Given the description of an element on the screen output the (x, y) to click on. 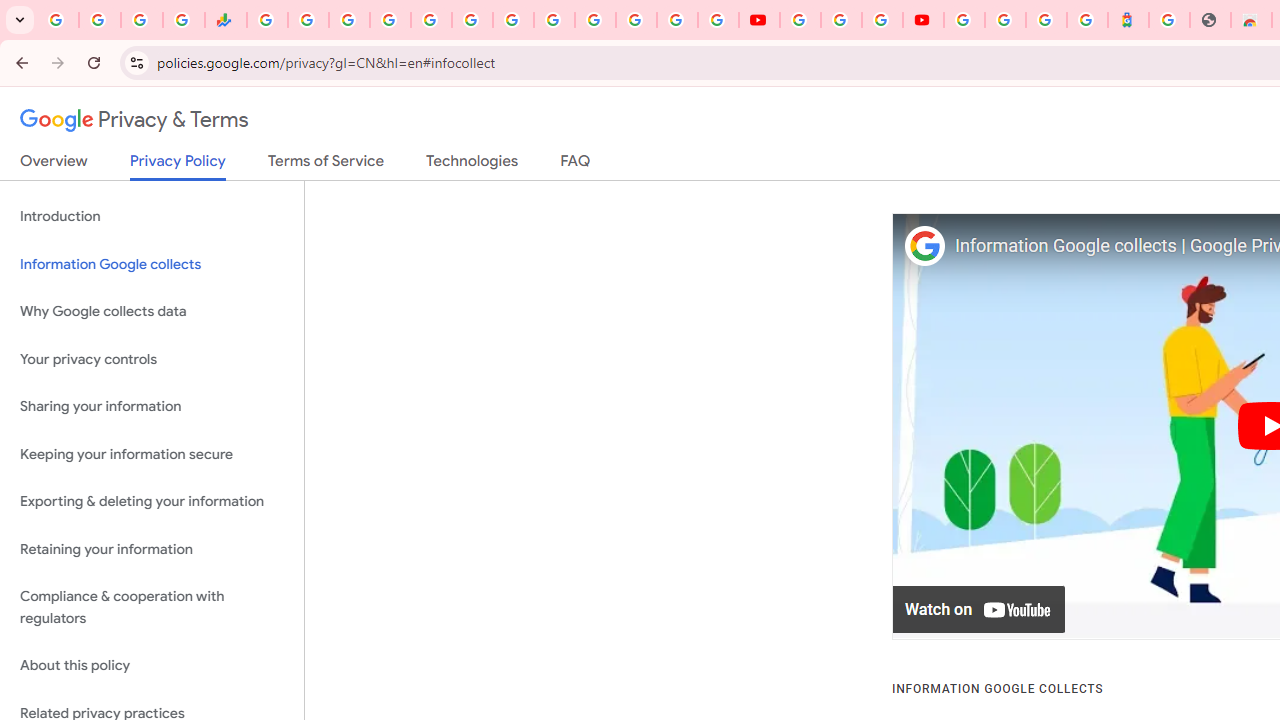
YouTube (758, 20)
Retaining your information (152, 548)
YouTube (553, 20)
Google Account Help (840, 20)
Watch on YouTube (979, 610)
Exporting & deleting your information (152, 502)
